Given the description of an element on the screen output the (x, y) to click on. 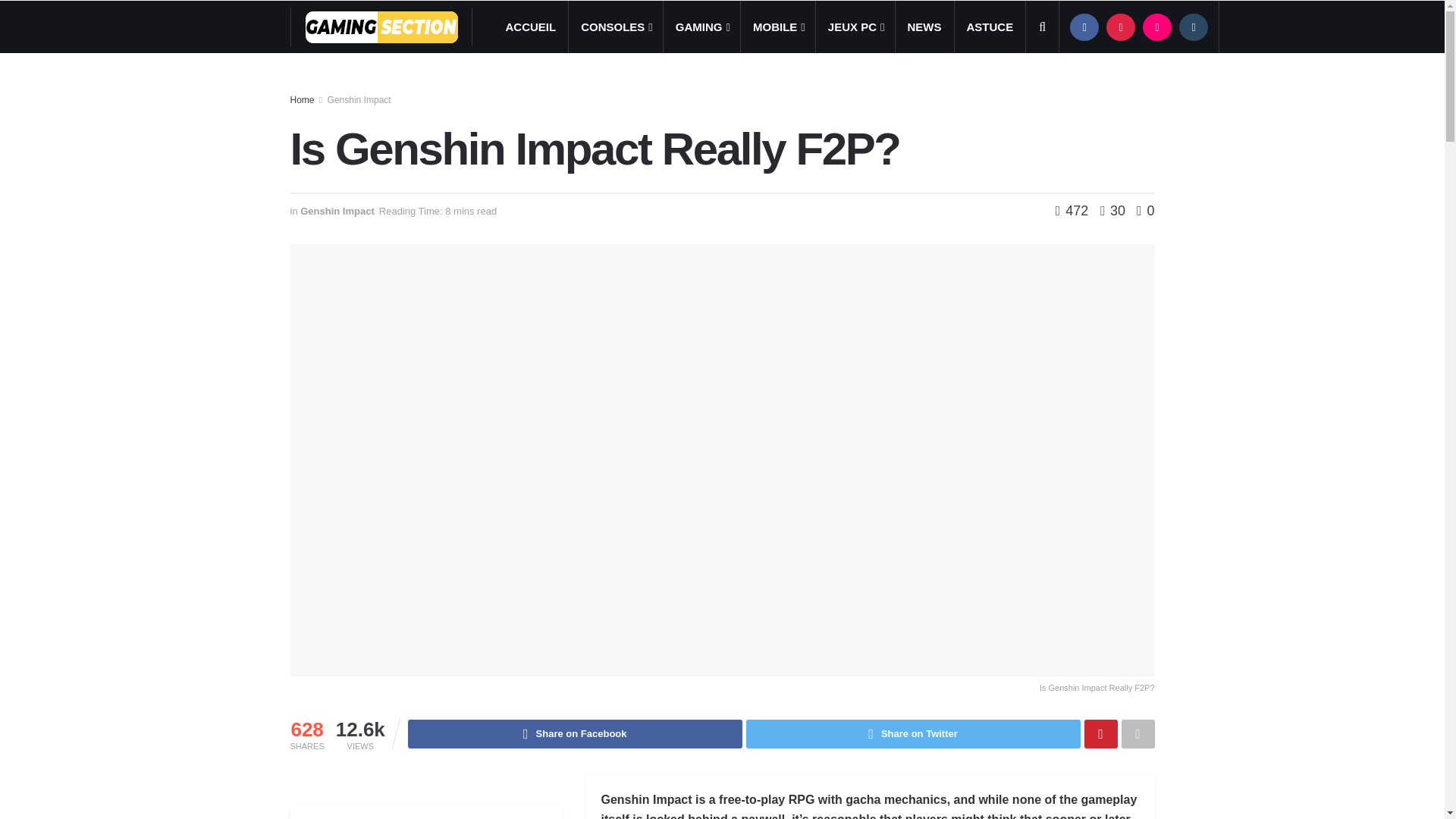
JEUX PC (855, 26)
NEWS (924, 26)
MOBILE (778, 26)
ACCUEIL (530, 26)
CONSOLES (615, 26)
GAMING (701, 26)
ASTUCE (990, 26)
